Given the description of an element on the screen output the (x, y) to click on. 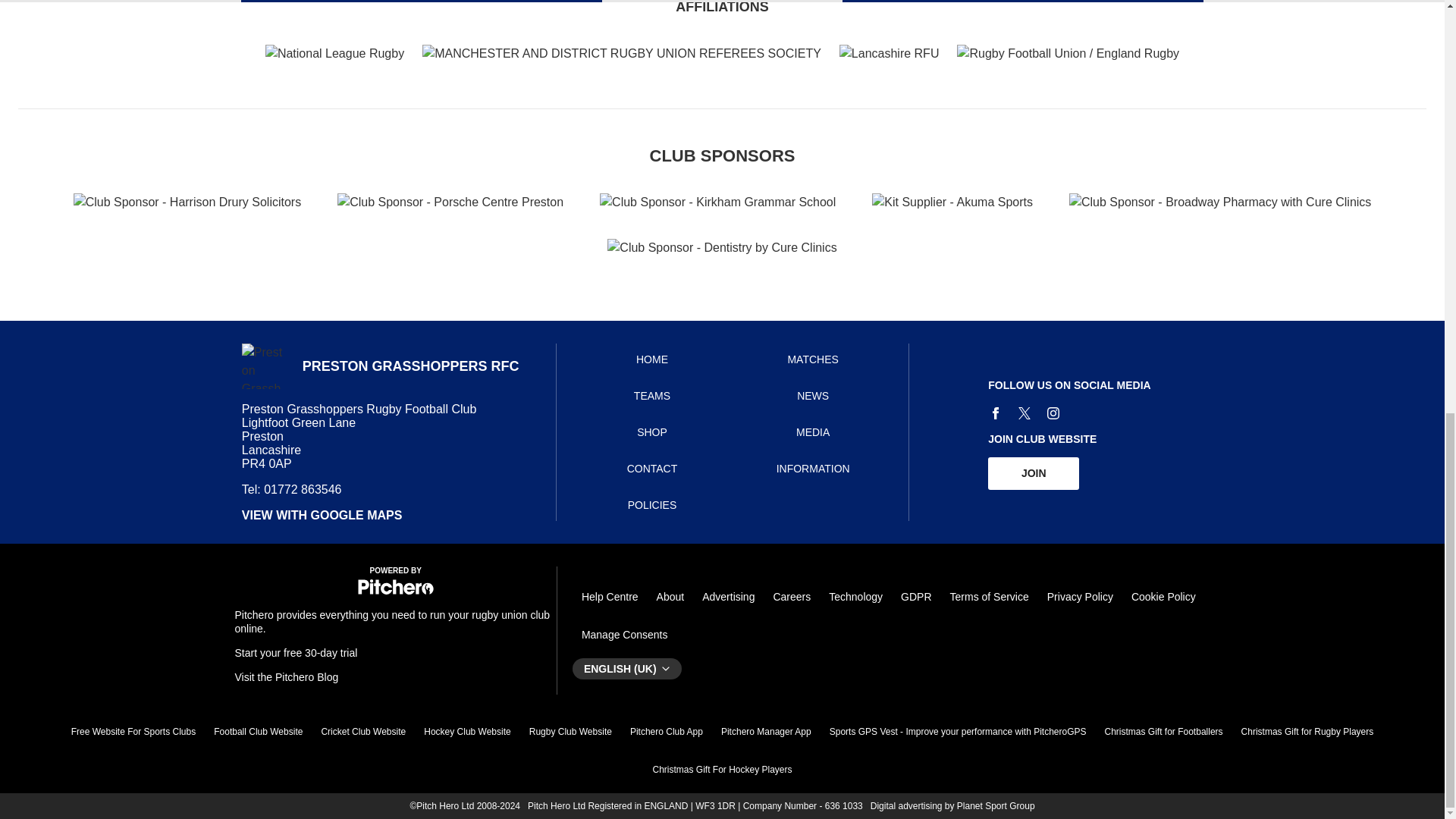
Club Sponsor - Kirkham Grammar School (717, 202)
Kit Supplier - Akuma Sports (952, 202)
Club Sponsor - Dentistry by Cure Clinics (721, 248)
Club Sponsor - Porsche Centre Preston (450, 202)
Club Sponsor - Harrison Drury Solicitors (187, 202)
Club Sponsor - Broadway Pharmacy with Cure Clinics (1219, 202)
